Given the description of an element on the screen output the (x, y) to click on. 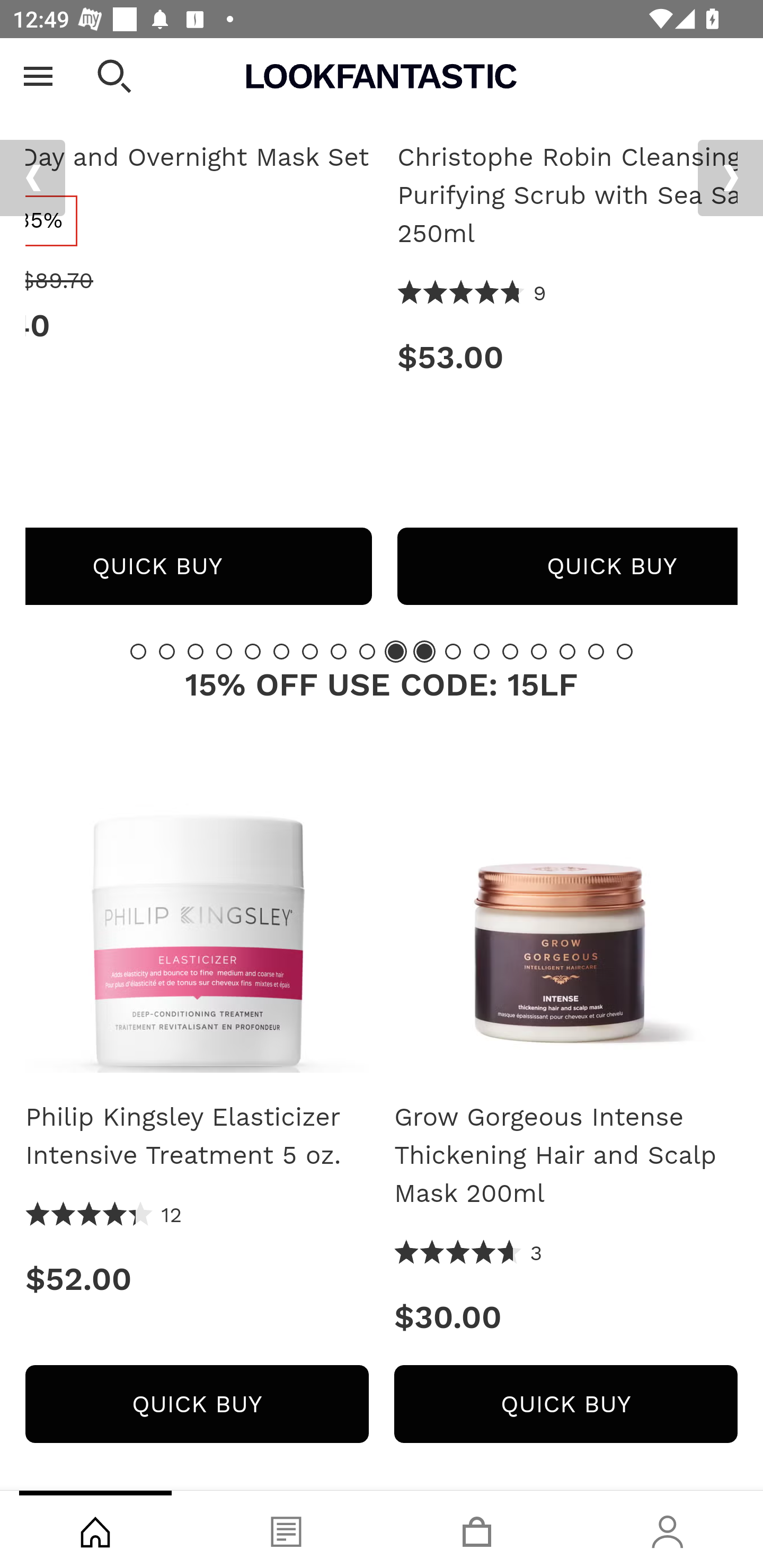
Previous (32, 178)
Next (730, 178)
4.78 Stars 9 Reviews (472, 294)
Price: $53.00 (567, 358)
QUICK BUY FRESH DAY AND OVERNIGHT MASK SET (198, 566)
Slide 1 (138, 651)
Slide 2 (166, 651)
Slide 3 (195, 651)
Slide 4 (223, 651)
Slide 5 (252, 651)
Slide 6 (281, 651)
Slide 7 (310, 651)
Slide 8 (338, 651)
Slide 9 (367, 651)
Showing Slide 10 (Current Item) (395, 651)
Showing Slide 11 (Current Item) (424, 651)
Slide 12 (452, 651)
Slide 13 (481, 651)
Slide 14 (510, 651)
Slide 15 (539, 651)
Slide 16 (567, 651)
Slide 17 (596, 651)
Slide 18 (624, 651)
4.33 Stars 12 Reviews (104, 1215)
4.67 Stars 3 Reviews (468, 1254)
Price: $52.00 (196, 1280)
Price: $30.00 (565, 1317)
Shop, tab, 1 of 4 (95, 1529)
Blog, tab, 2 of 4 (285, 1529)
Basket, tab, 3 of 4 (476, 1529)
Account, tab, 4 of 4 (667, 1529)
